Given the description of an element on the screen output the (x, y) to click on. 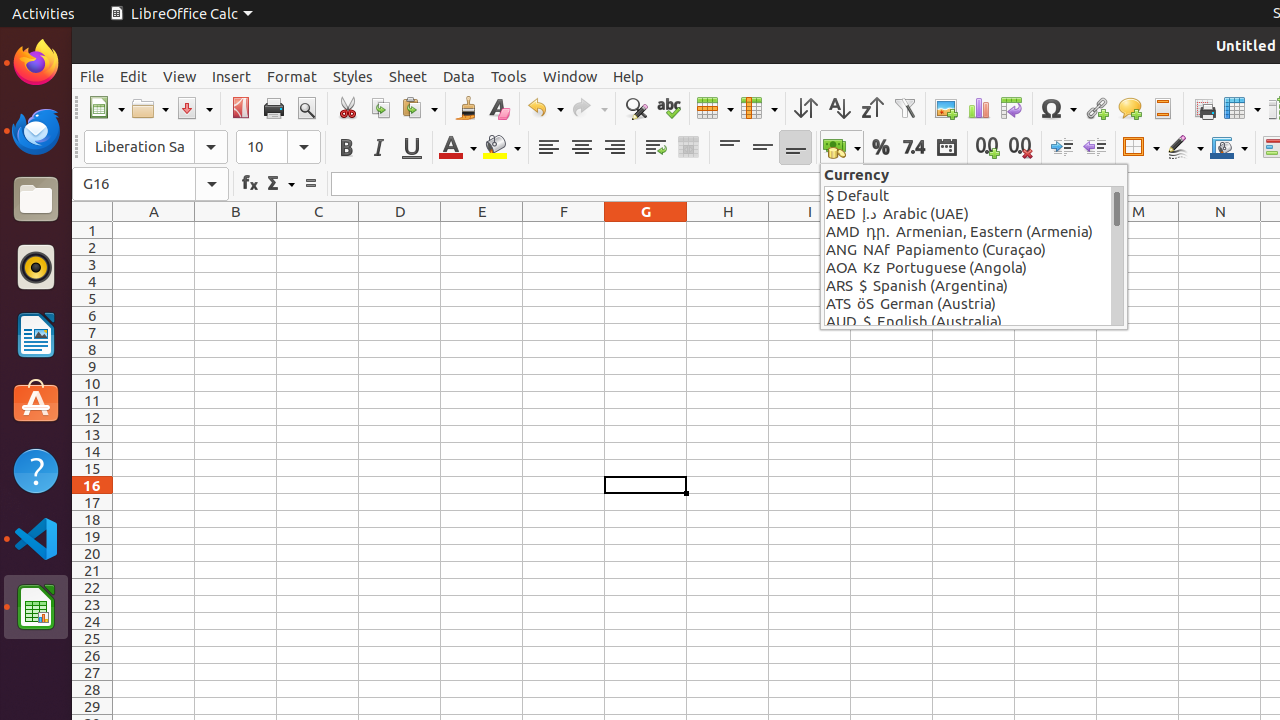
Open Element type: push-button (150, 108)
Delete Decimal Place Element type: push-button (1020, 147)
Window Element type: menu (570, 76)
Sort Element type: push-button (805, 108)
